Given the description of an element on the screen output the (x, y) to click on. 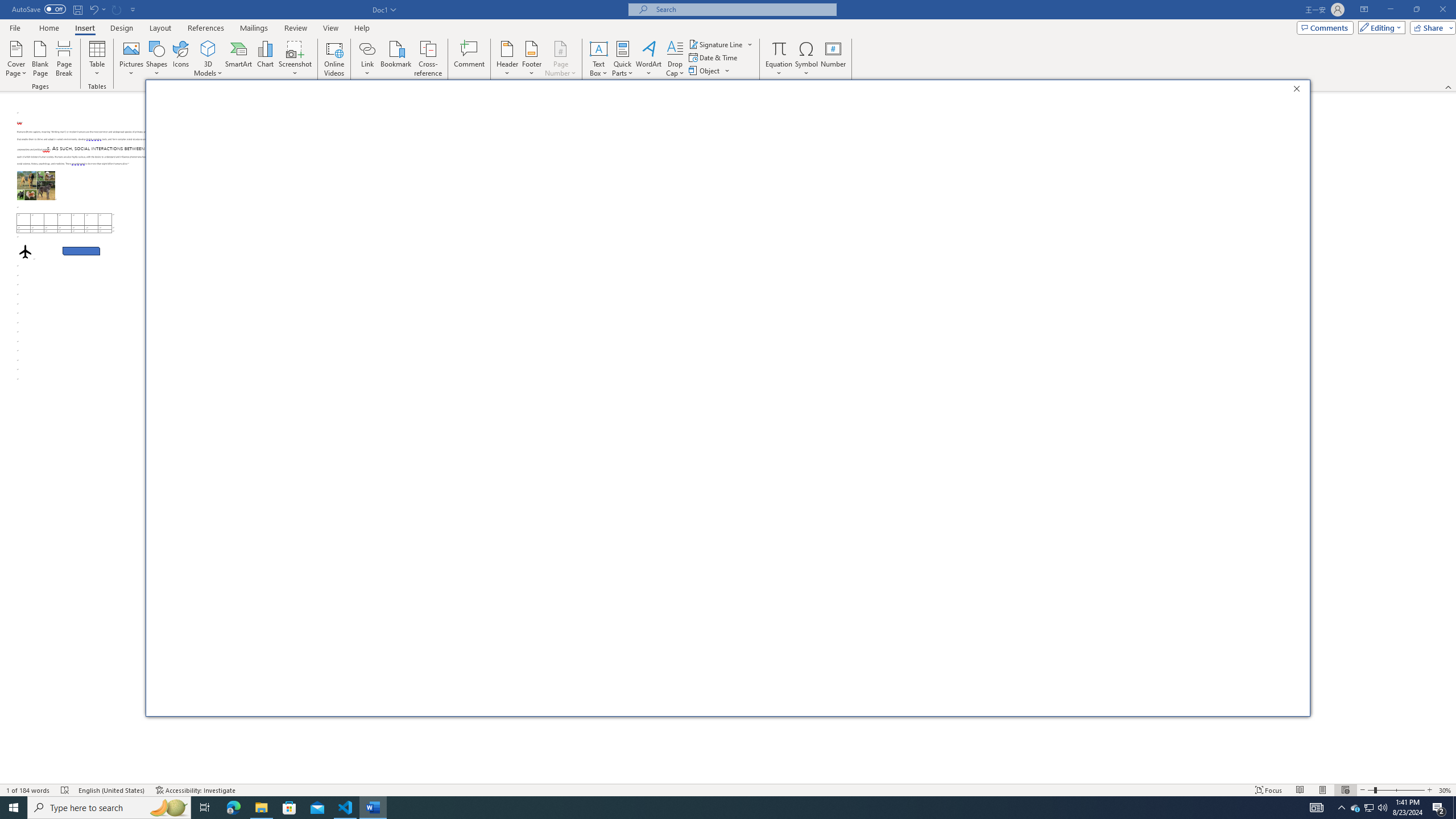
Can't Repeat (117, 9)
AutomationID: 4105 (1316, 807)
File Explorer - 1 running window (261, 807)
SmartArt... (238, 58)
Images (183, 146)
3D Models (208, 48)
Airplane with solid fill (25, 251)
